Given the description of an element on the screen output the (x, y) to click on. 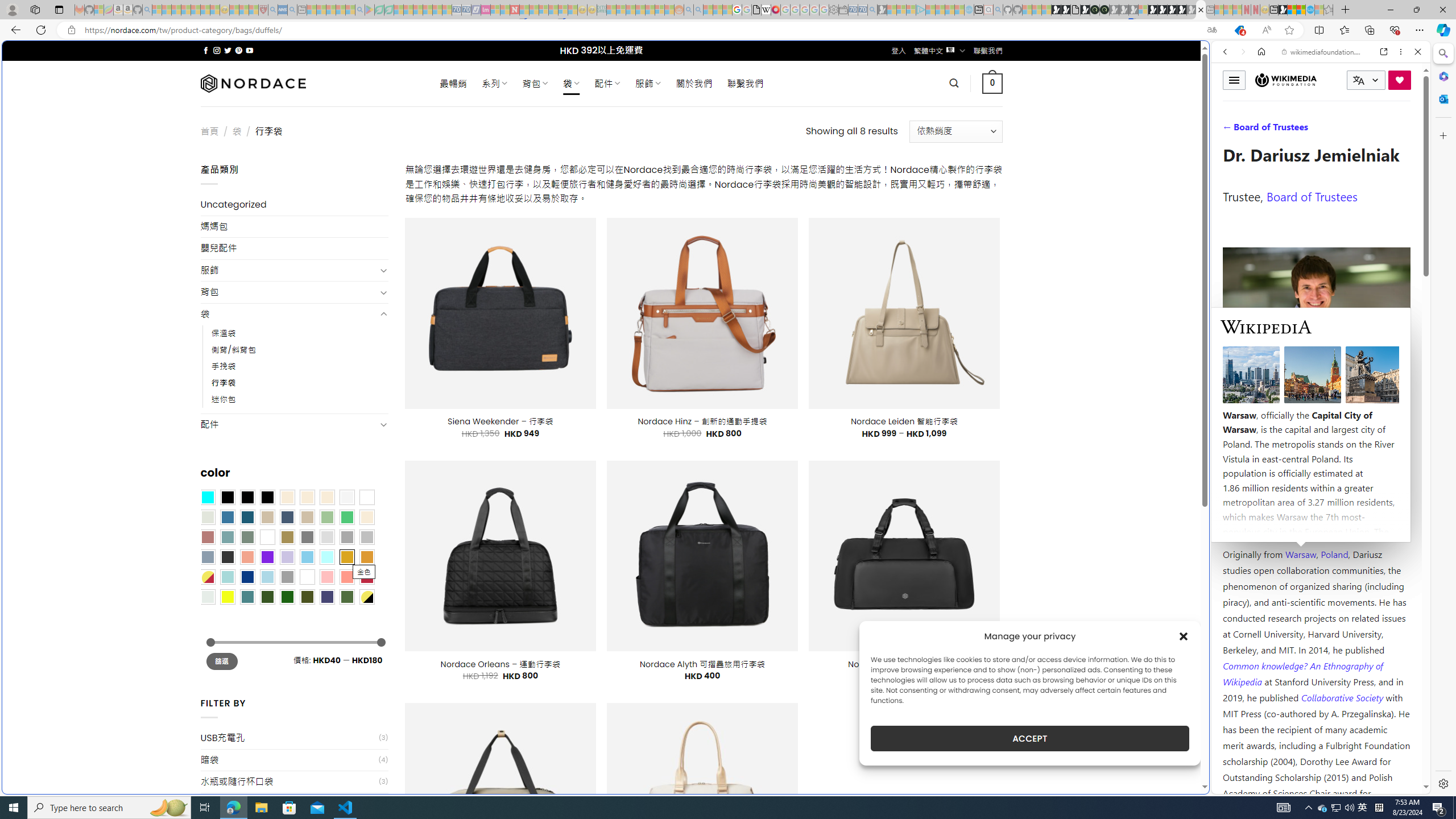
Harvard University (1259, 526)
Future Focus Report 2024 (1103, 9)
